Given the description of an element on the screen output the (x, y) to click on. 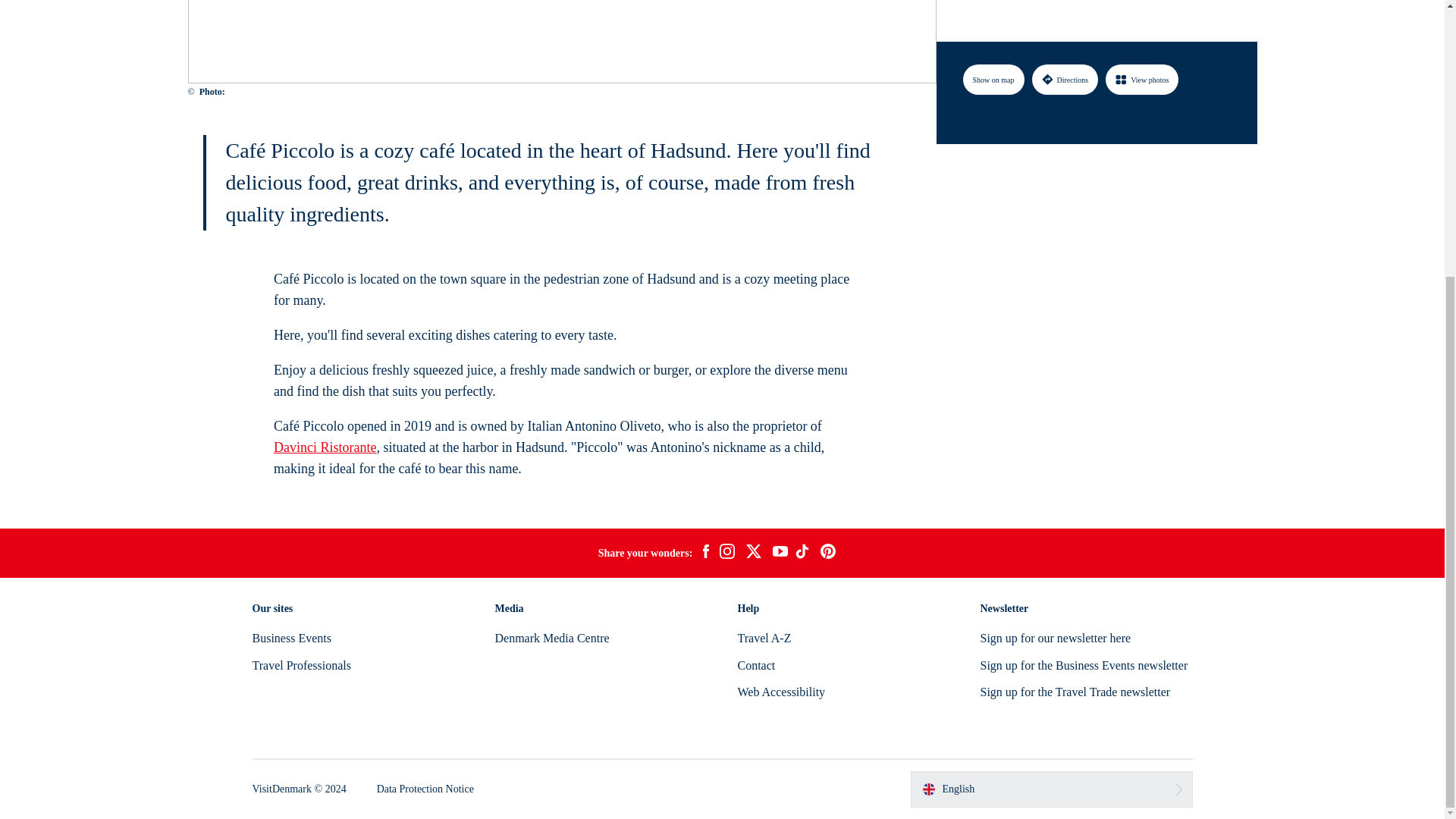
Web Accessibility (780, 691)
pinterest (828, 553)
twitter (753, 553)
Denmark Media Centre (551, 637)
Data Protection Notice (425, 789)
Sign up for our newsletter here (1055, 637)
Travel A-Z (763, 637)
Davinci Ristorante (324, 447)
instagram (726, 553)
Contact (755, 665)
Sign up for our newsletter here (1055, 637)
Sign up for the Business Events newsletter (1083, 665)
Travel Professionals (300, 665)
Data Protection Notice (425, 789)
Sign up for the Travel Trade newsletter (1074, 691)
